Given the description of an element on the screen output the (x, y) to click on. 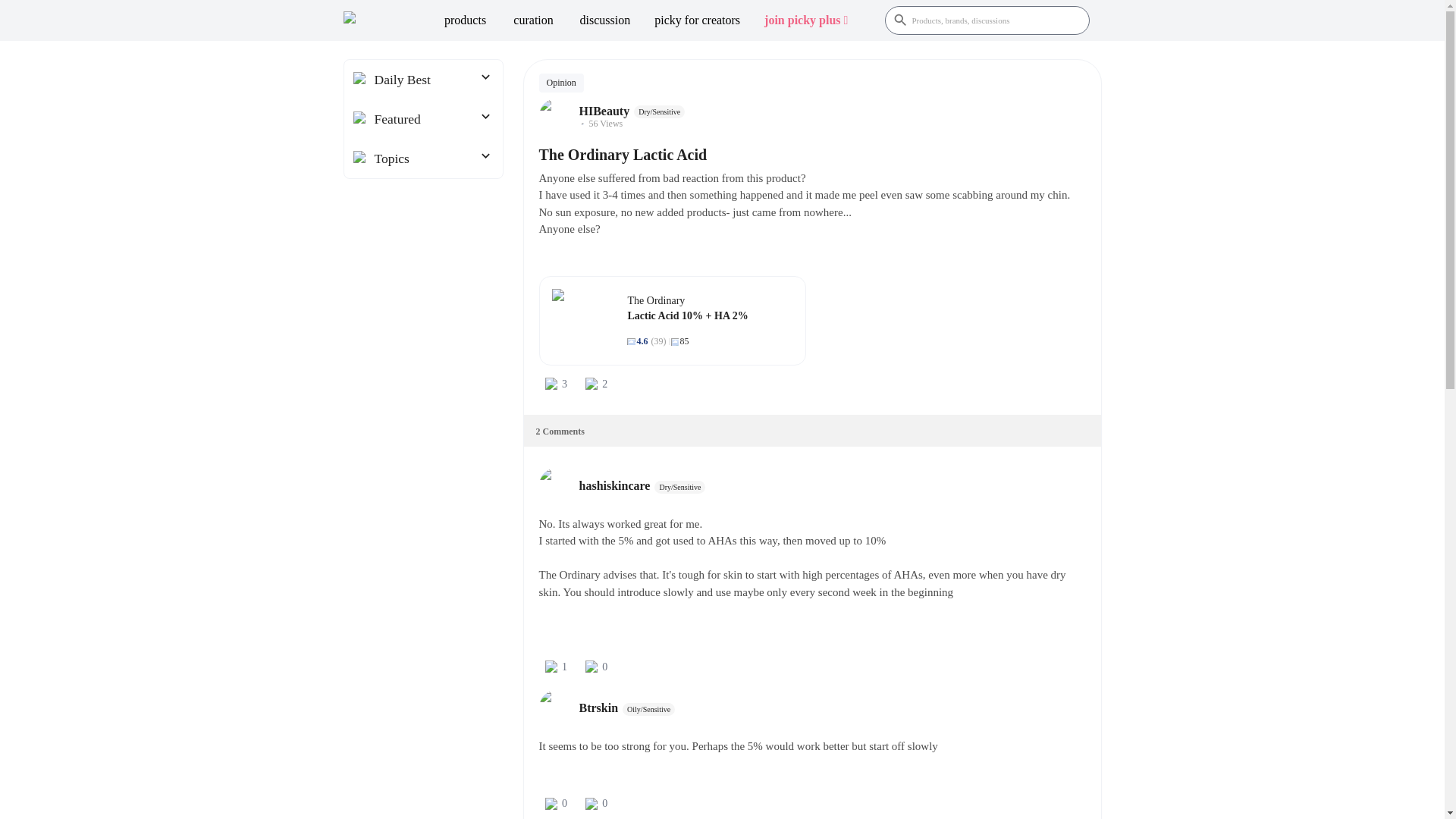
picky for creators (697, 20)
products (464, 20)
curation (533, 20)
discussion (605, 20)
